Given the description of an element on the screen output the (x, y) to click on. 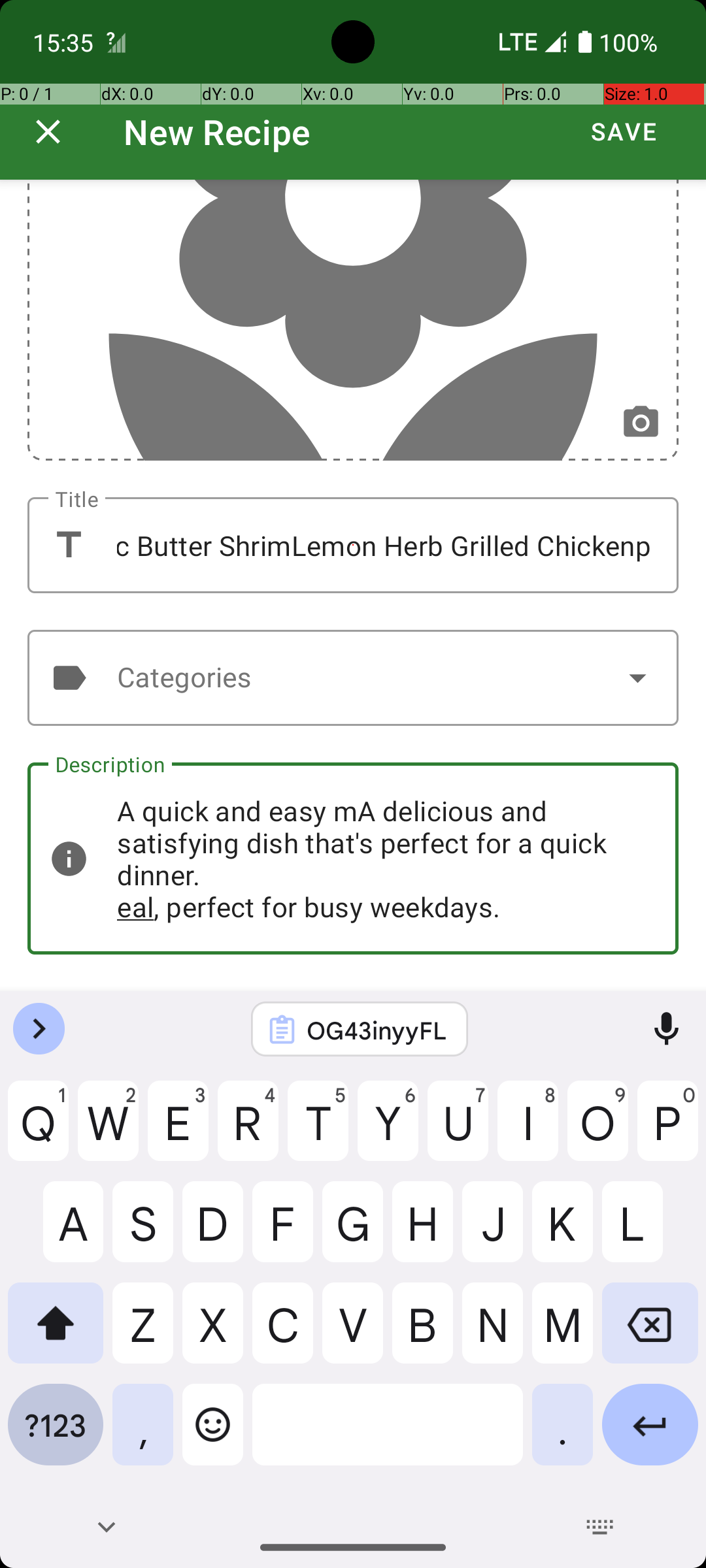
Garlic Butter ShrimLemon Herb Grilled Chickenp Element type: android.widget.EditText (352, 545)
A quick and easy mA delicious and satisfying dish that's perfect for a quick dinner.
eal, perfect for busy weekdays. Element type: android.widget.EditText (352, 858)
OG43inyyFL Element type: android.widget.TextView (376, 1029)
